Given the description of an element on the screen output the (x, y) to click on. 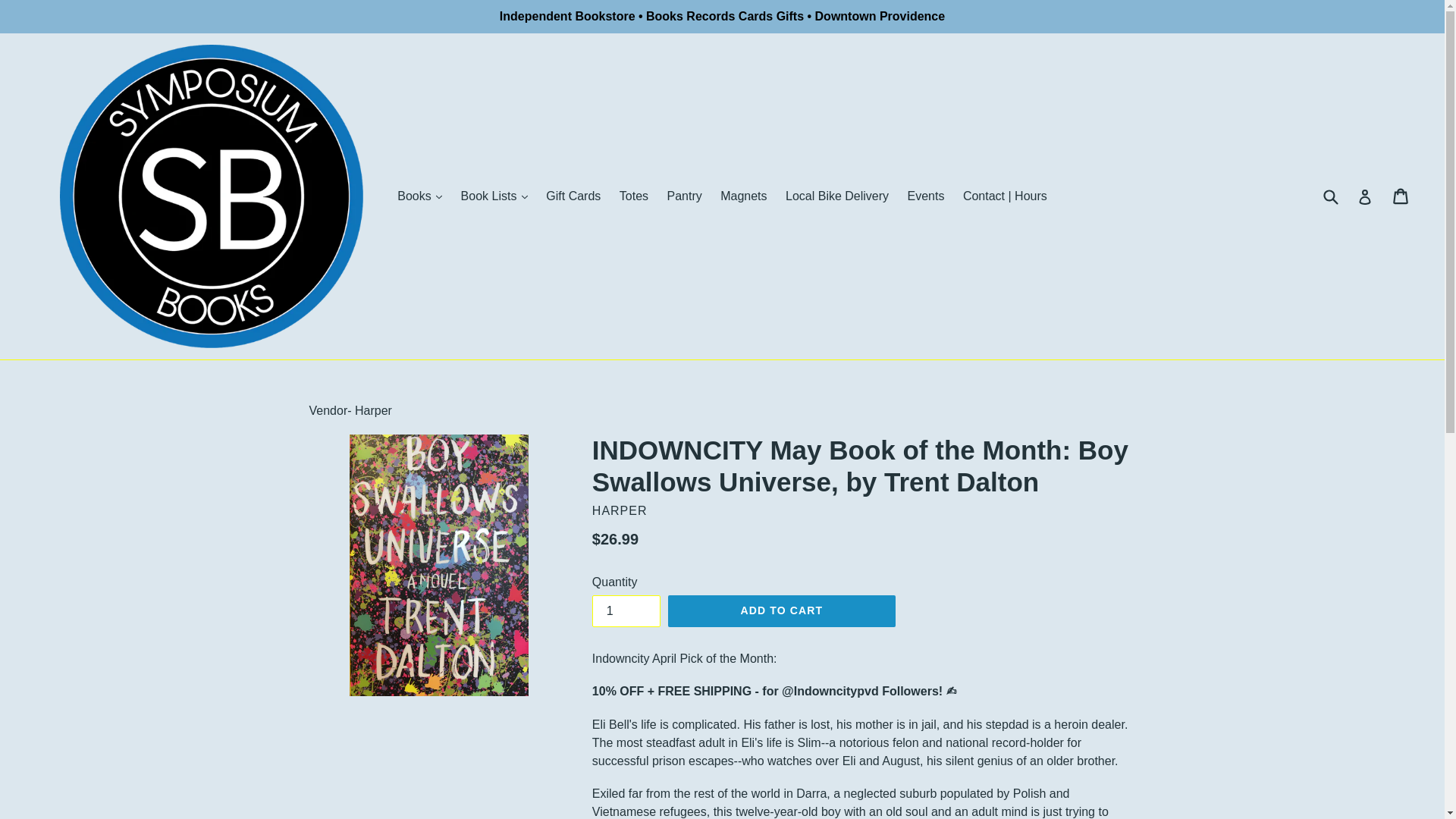
1 (626, 610)
